Given the description of an element on the screen output the (x, y) to click on. 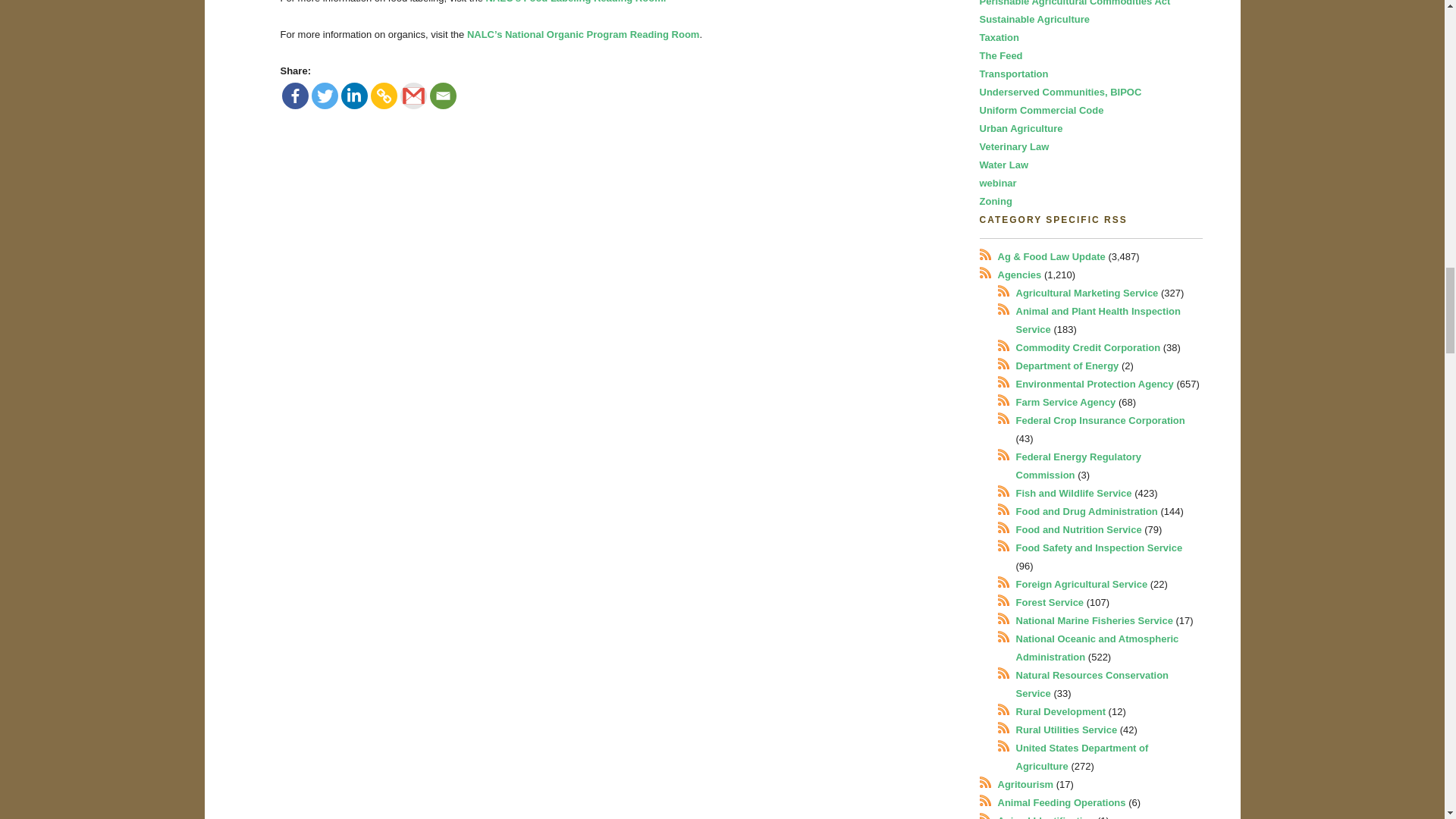
Twitter (324, 95)
Facebook (295, 95)
Google Gmail (413, 95)
Linkedin (354, 95)
Copy Link (382, 95)
Email (442, 95)
